Given the description of an element on the screen output the (x, y) to click on. 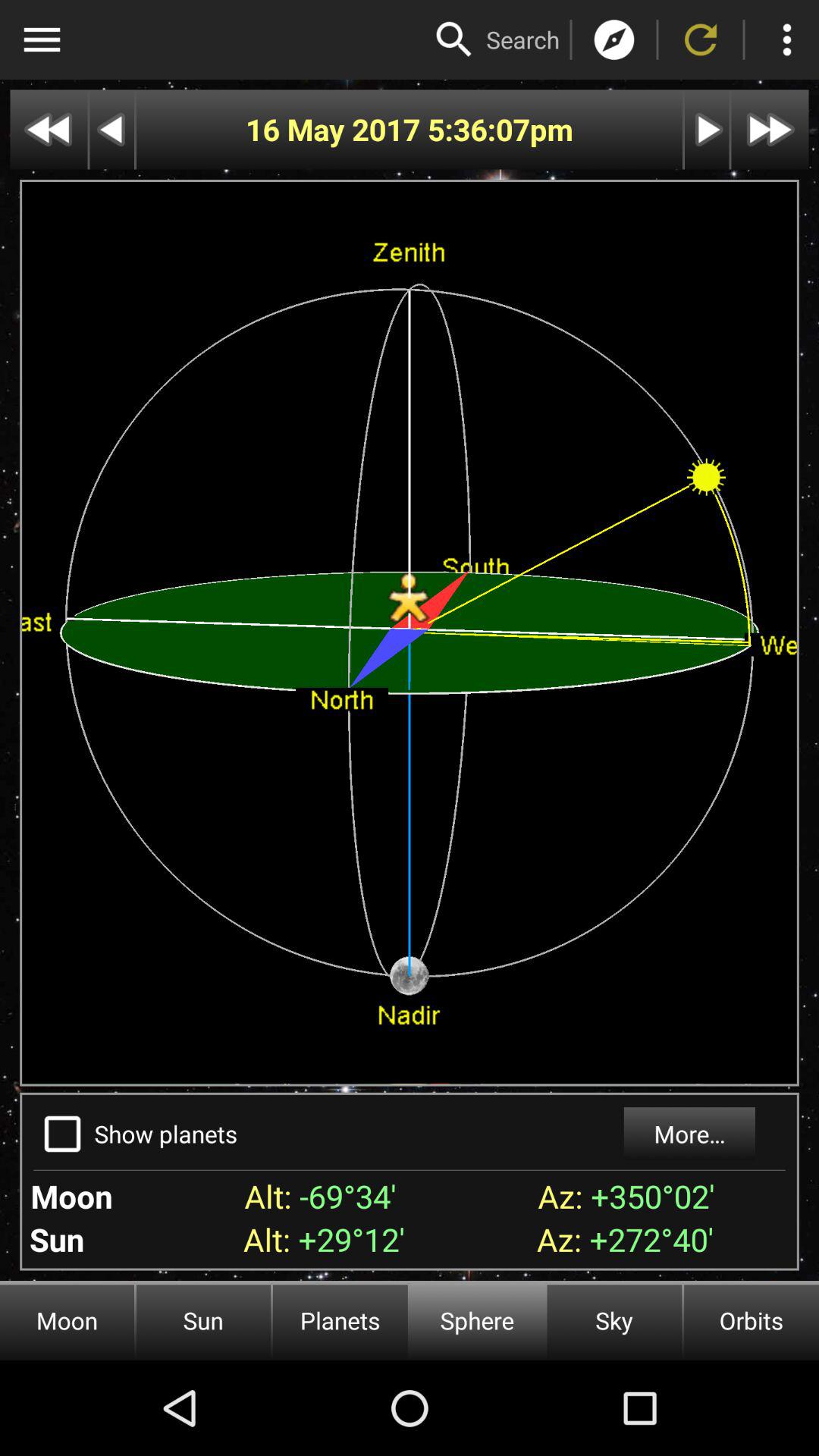
toggle show select option (62, 1133)
